Given the description of an element on the screen output the (x, y) to click on. 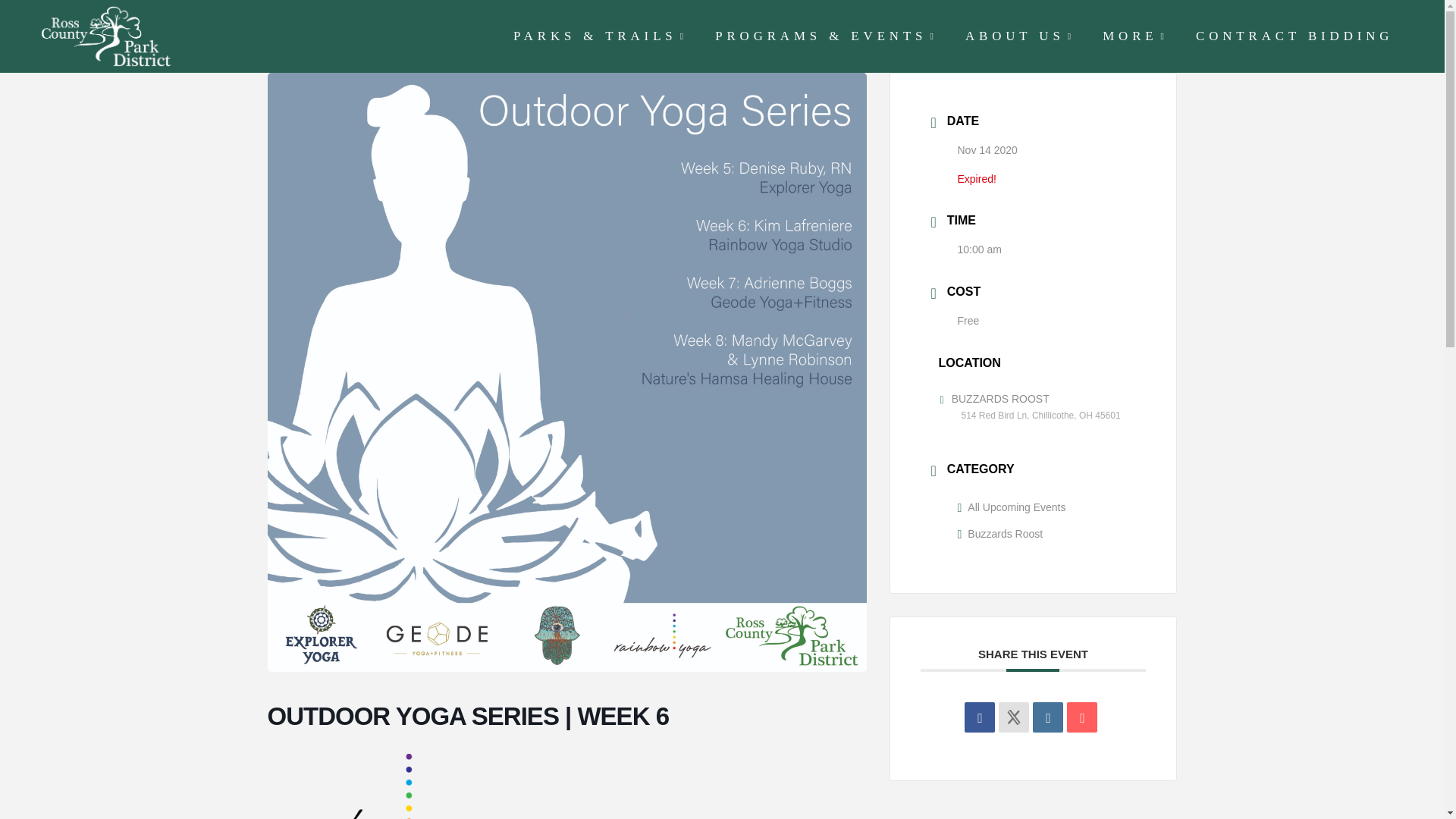
Linkedin (1047, 716)
Share on Facebook (978, 716)
All Upcoming Events (1010, 506)
MORE (1132, 36)
ABOUT US (1017, 36)
Email (1082, 716)
Buzzards Roost (999, 533)
X Social Network (1013, 716)
CONTRACT BIDDING (1292, 36)
